Given the description of an element on the screen output the (x, y) to click on. 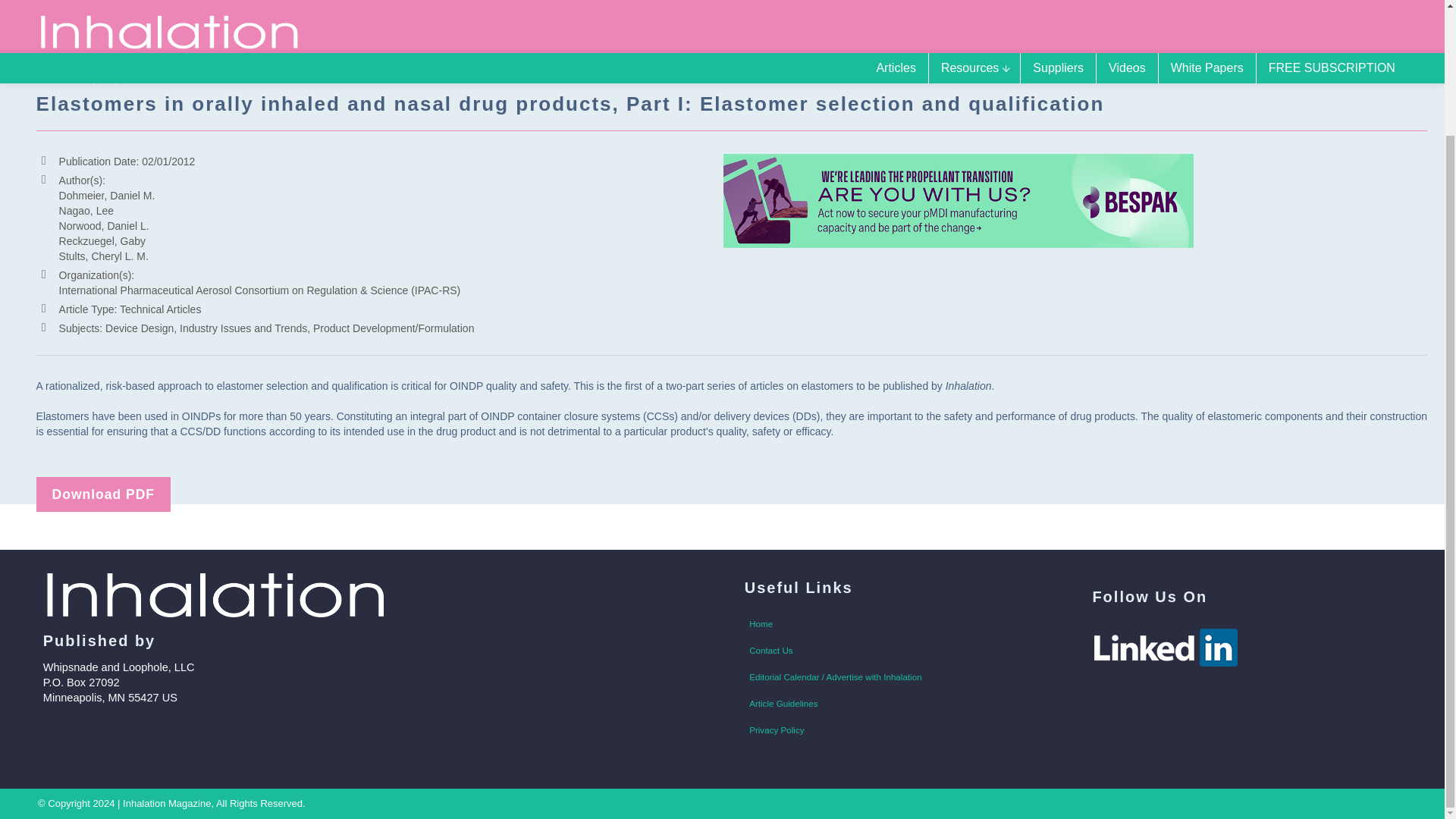
Contact Us (898, 650)
Download PDF (103, 493)
Home (898, 623)
